Given the description of an element on the screen output the (x, y) to click on. 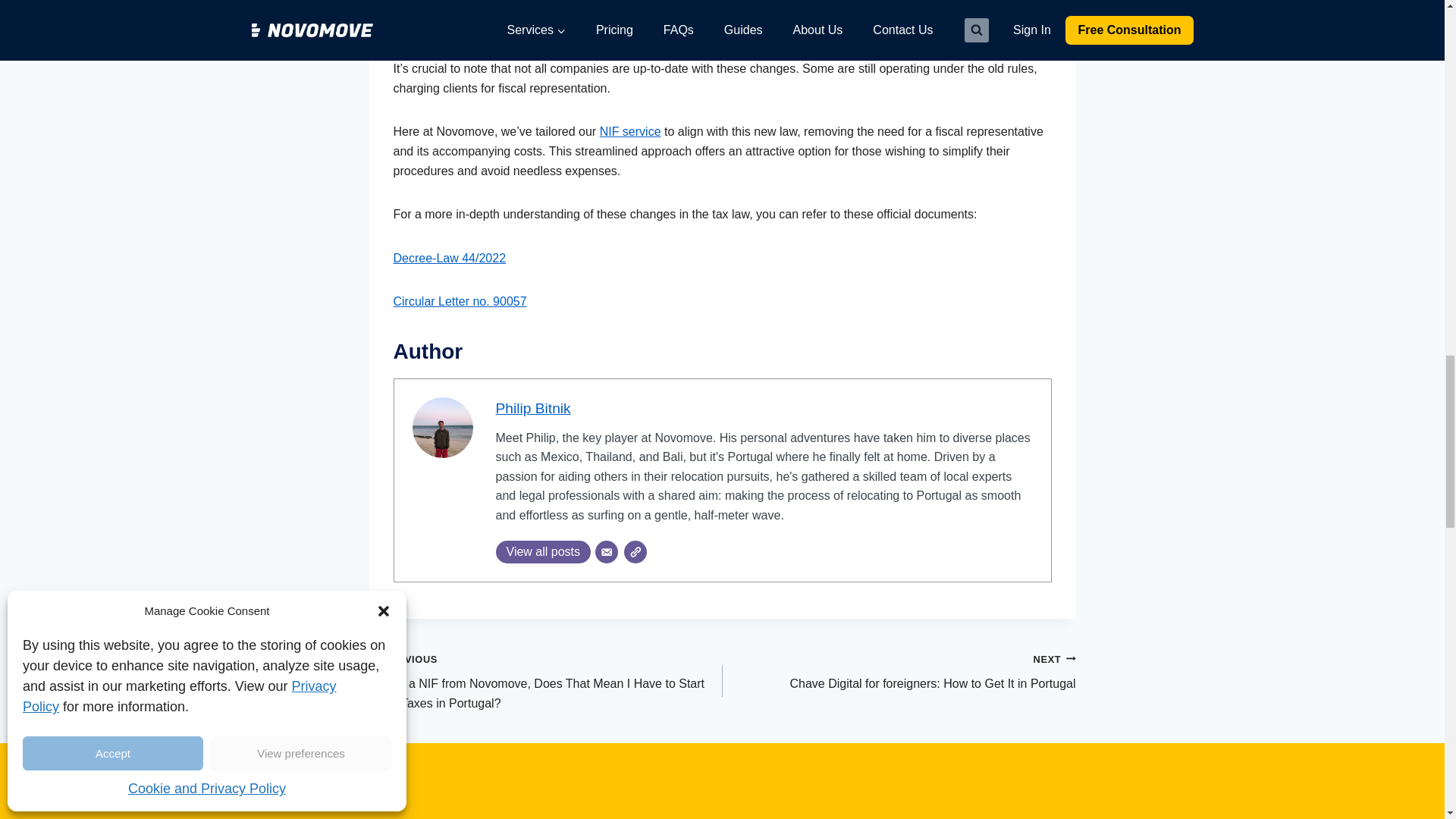
View all posts (543, 551)
Philip Bitnik (533, 408)
